Given the description of an element on the screen output the (x, y) to click on. 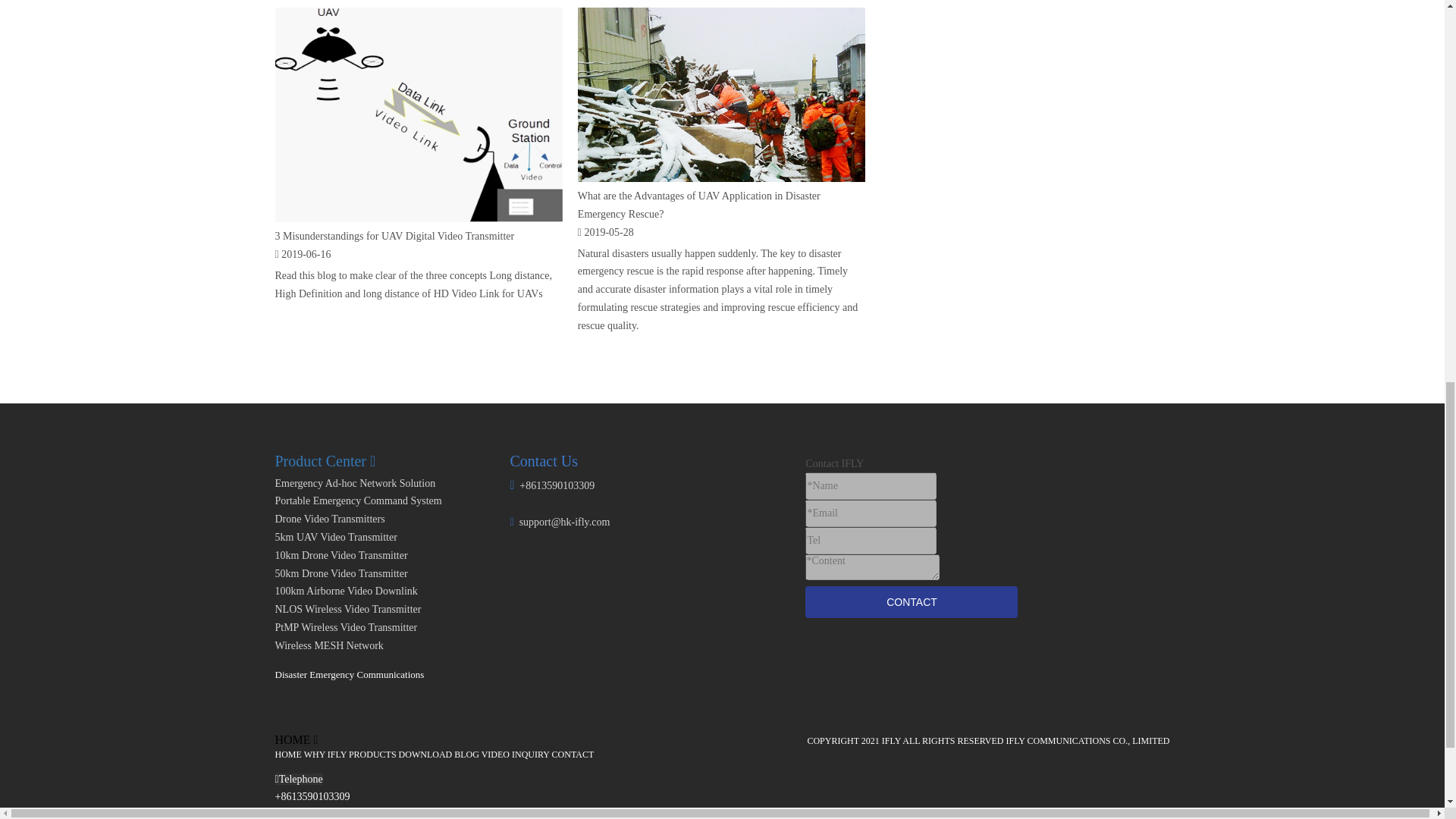
Portable Emergency Command System (358, 500)
3 Misunderstandings for UAV Digital Video Transmitter (394, 235)
Drone Video Transmitters (329, 518)
5km UAV Video Transmitter (335, 536)
Emergency Ad-hoc Network Solution (355, 482)
